Given the description of an element on the screen output the (x, y) to click on. 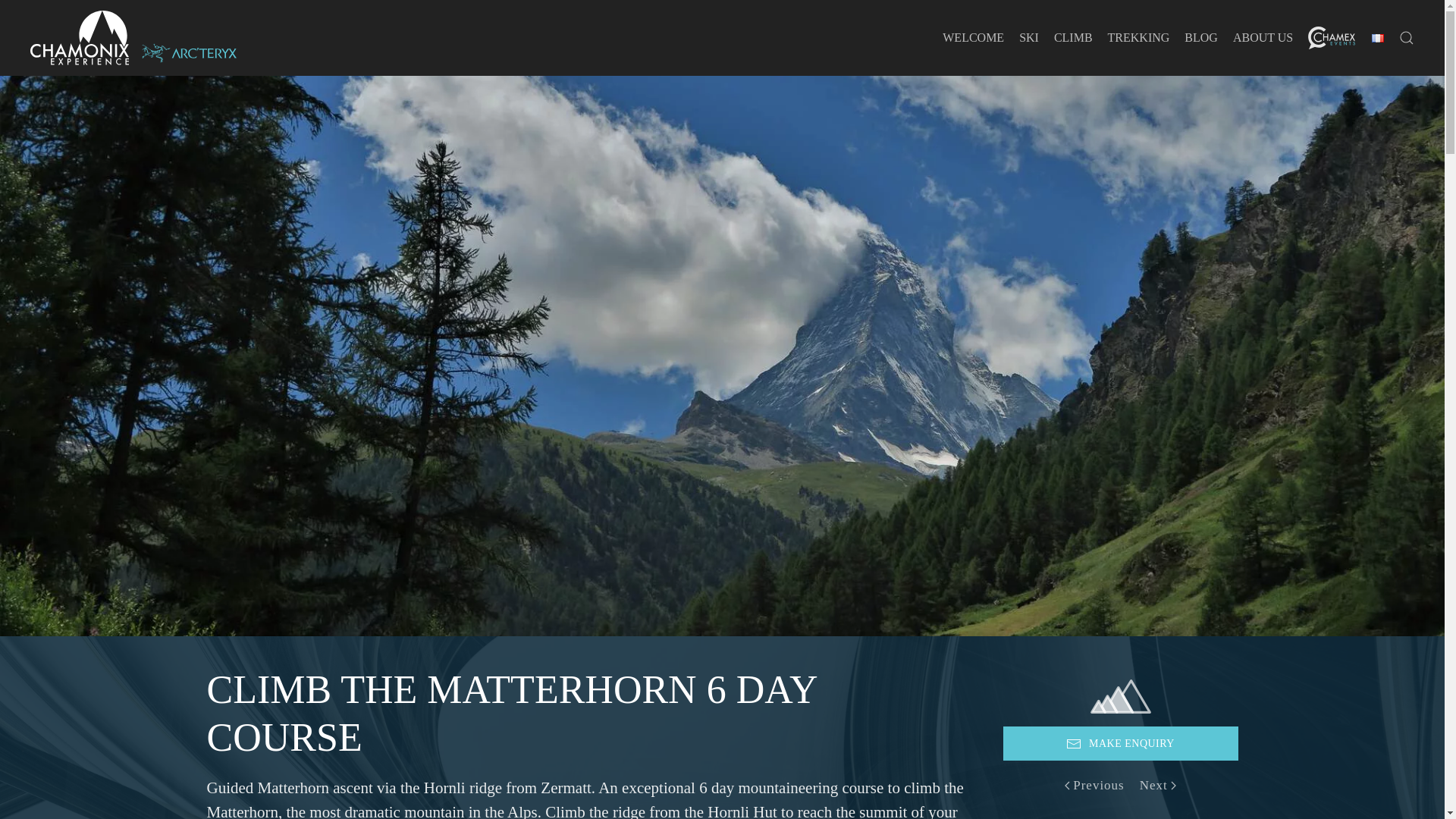
WELCOME (972, 38)
